Given the description of an element on the screen output the (x, y) to click on. 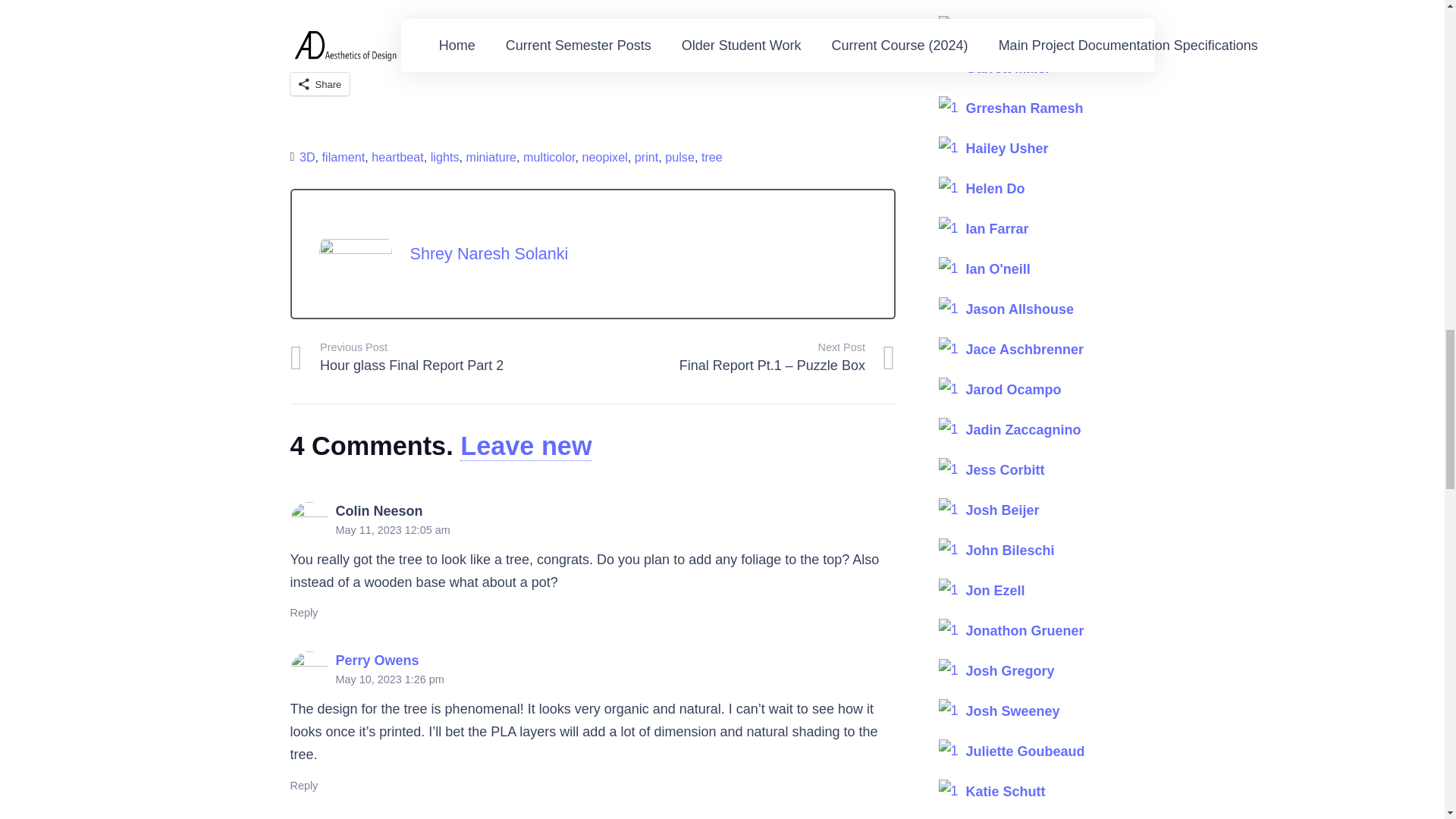
May 10, 2023 1:26 pm (389, 679)
May 11, 2023 12:05 am (391, 530)
Hour glass Final Report Part 2 (440, 357)
